Given the description of an element on the screen output the (x, y) to click on. 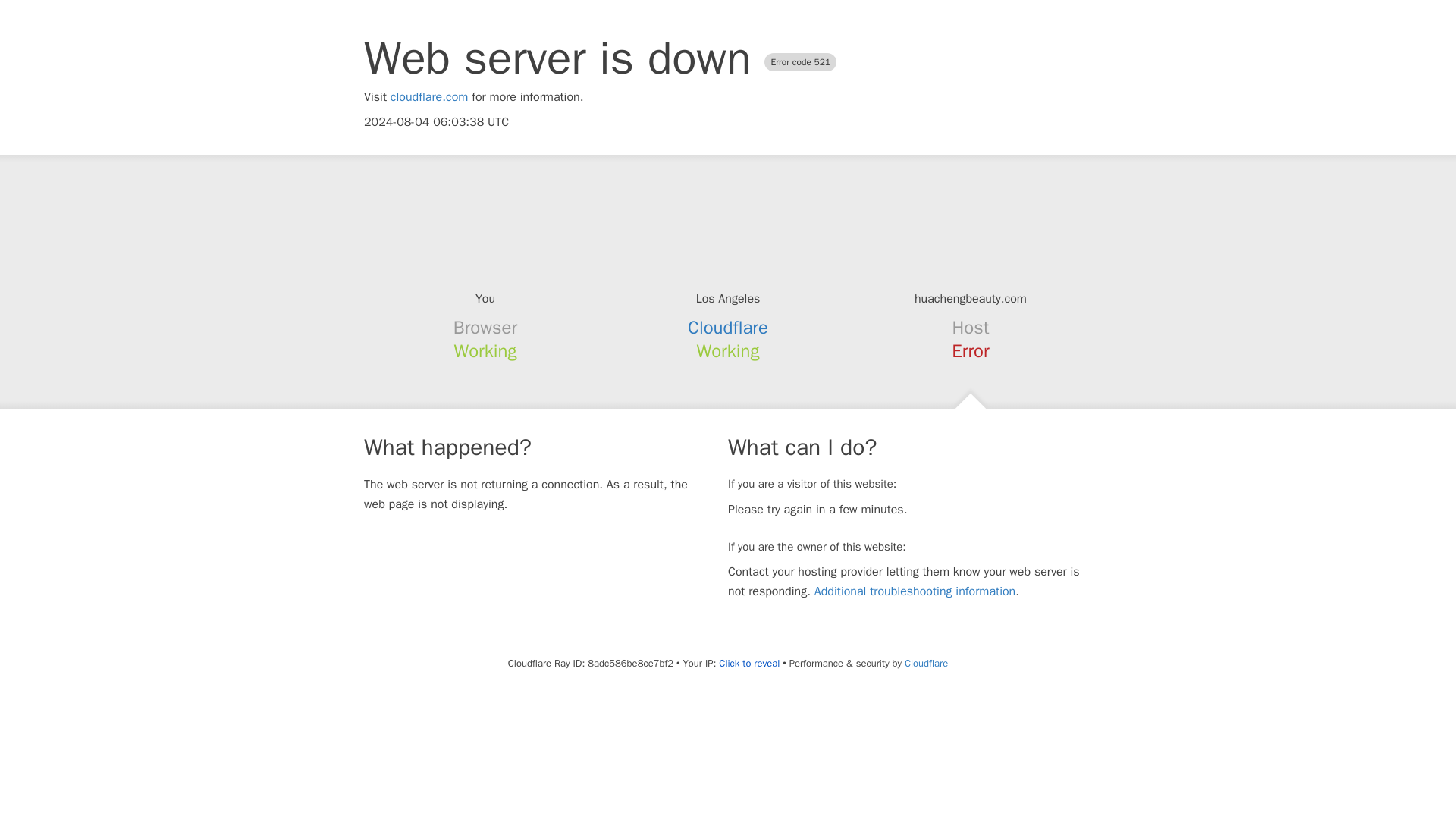
cloudflare.com (429, 96)
Cloudflare (925, 662)
Click to reveal (748, 663)
Cloudflare (727, 327)
Additional troubleshooting information (913, 590)
